Given the description of an element on the screen output the (x, y) to click on. 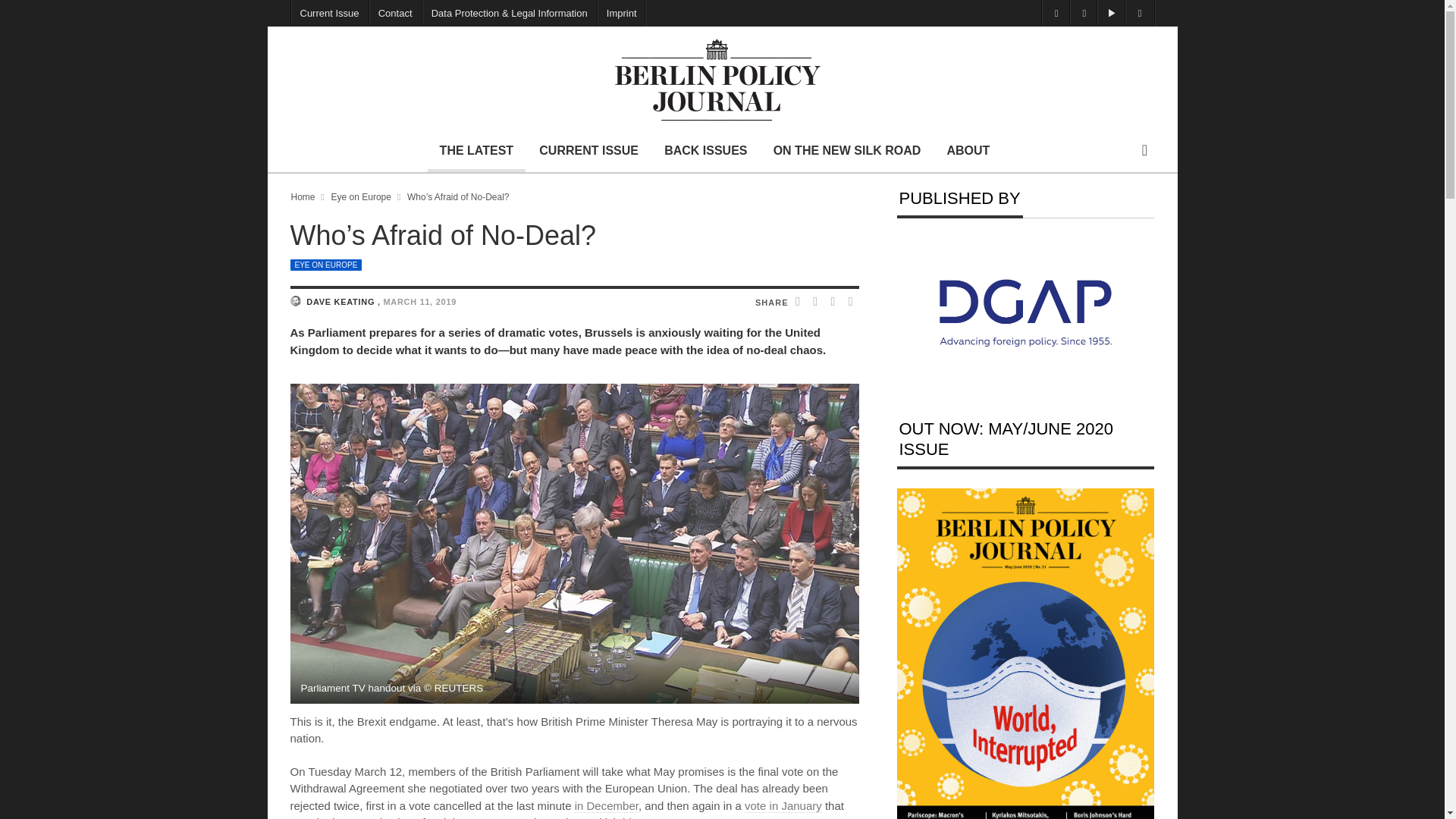
Share on Facebook (799, 302)
BACK ISSUES (705, 150)
Dave Keating (294, 300)
Share on Pinterest (851, 302)
EYE ON EUROPE (325, 265)
ON THE NEW SILK ROAD (847, 150)
DAVE KEATING (341, 301)
Home (303, 196)
ABOUT (967, 150)
Eye on Europe (325, 265)
